Given the description of an element on the screen output the (x, y) to click on. 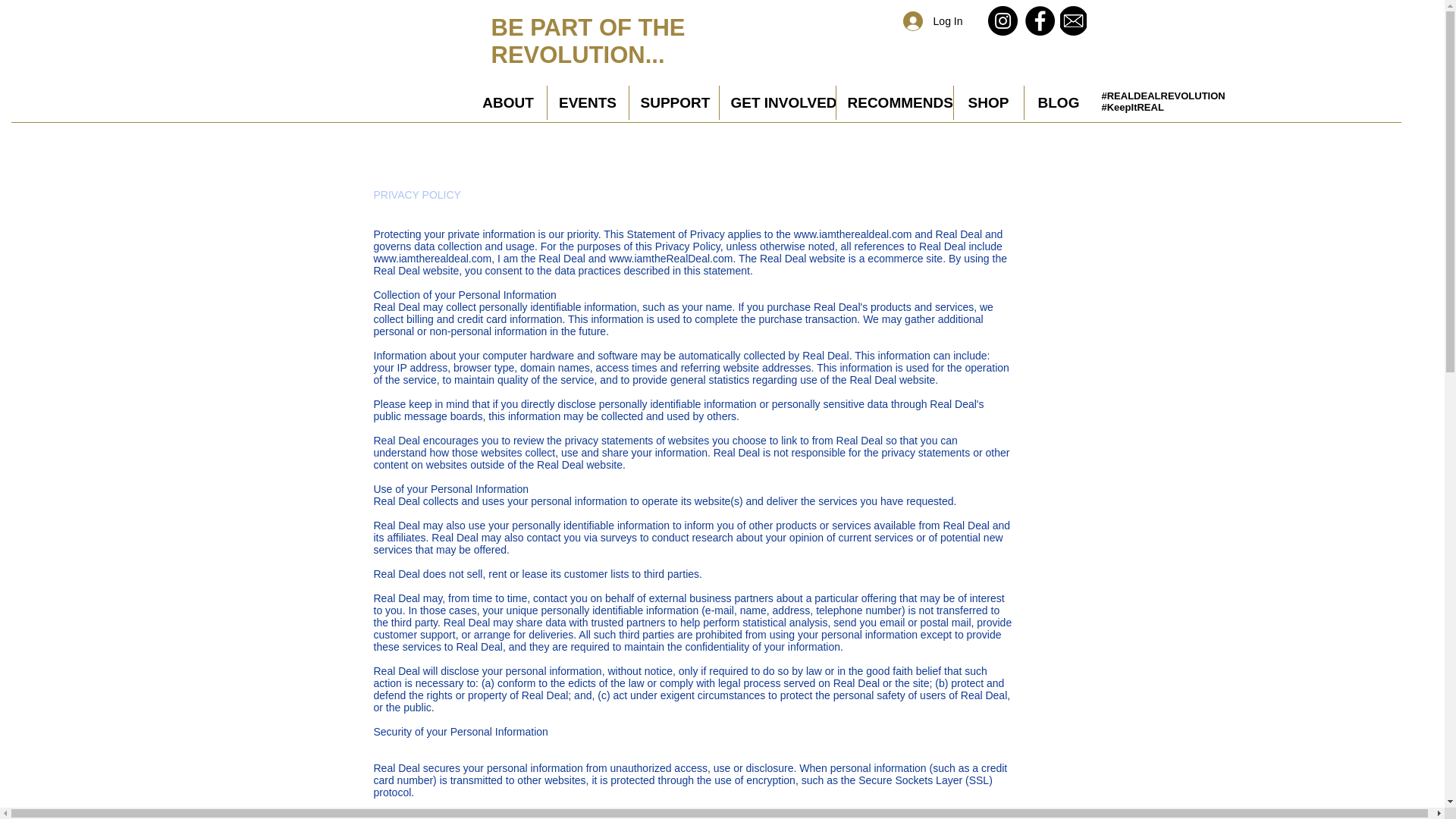
www.iamtherealdeal.com (852, 234)
BLOG (1058, 102)
www.iamtheRealDeal.com (670, 258)
SUPPORT (673, 102)
www.iamtherealdeal.com (432, 258)
ABOUT (508, 102)
EVENTS (587, 102)
GET INVOLVED (776, 102)
RECOMMENDS (893, 102)
SHOP (988, 102)
